Given the description of an element on the screen output the (x, y) to click on. 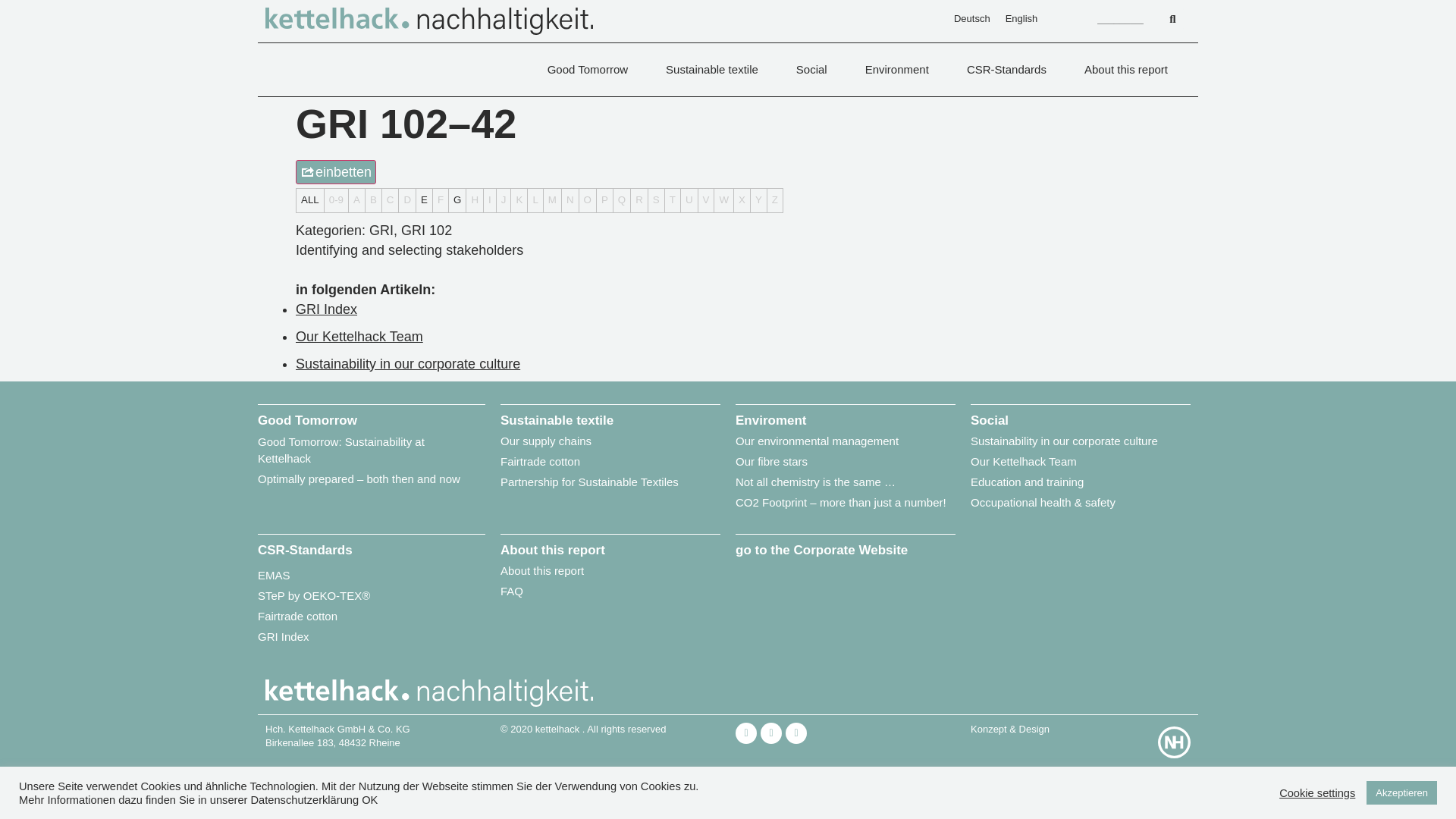
Kategorien:GRI (381, 230)
English (1021, 18)
About this report (1129, 69)
Glossar Begriff einbetten (335, 171)
Kategorien:GRI 102 (426, 230)
Social (815, 69)
Deutsch (971, 18)
